Given the description of an element on the screen output the (x, y) to click on. 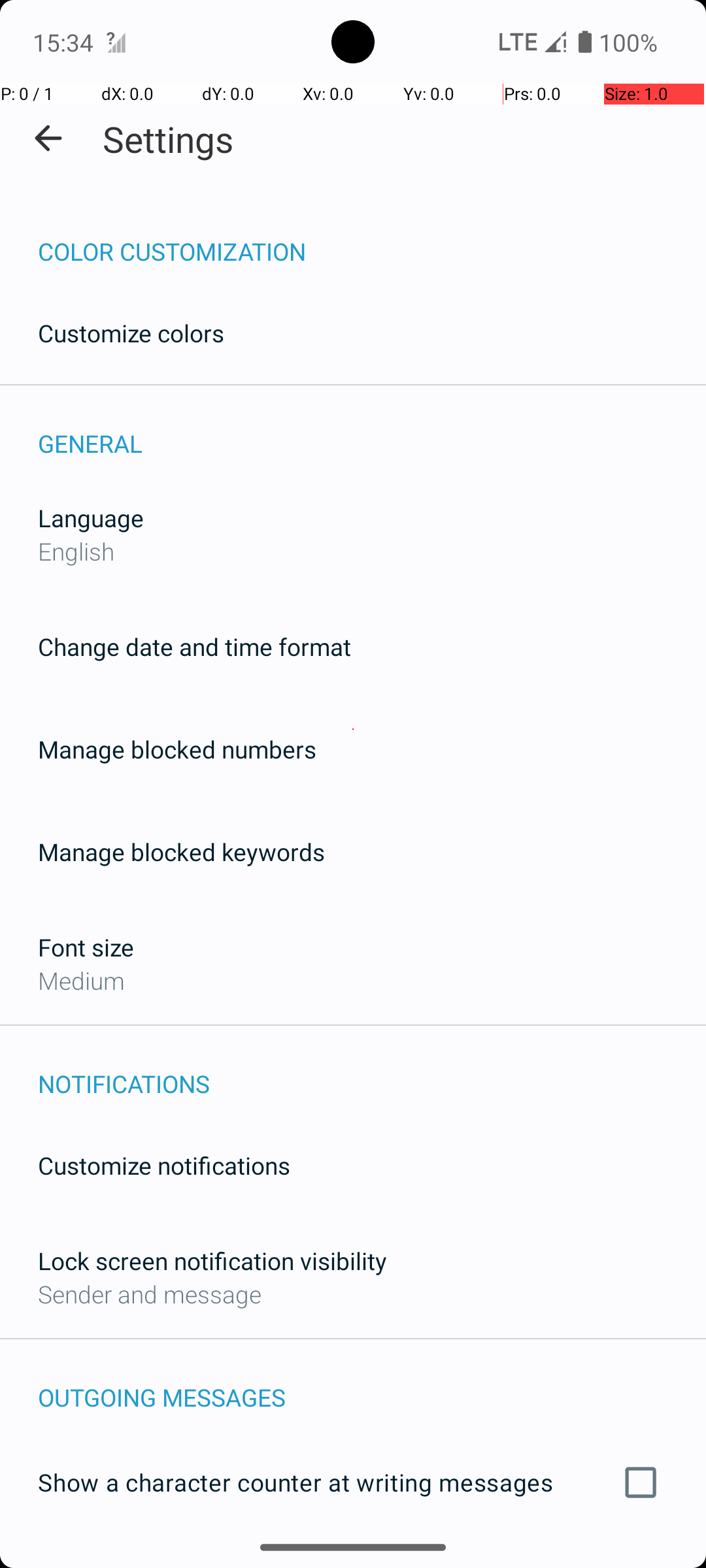
Medium Element type: android.widget.TextView (80, 979)
Sender and message Element type: android.widget.TextView (149, 1293)
